Given the description of an element on the screen output the (x, y) to click on. 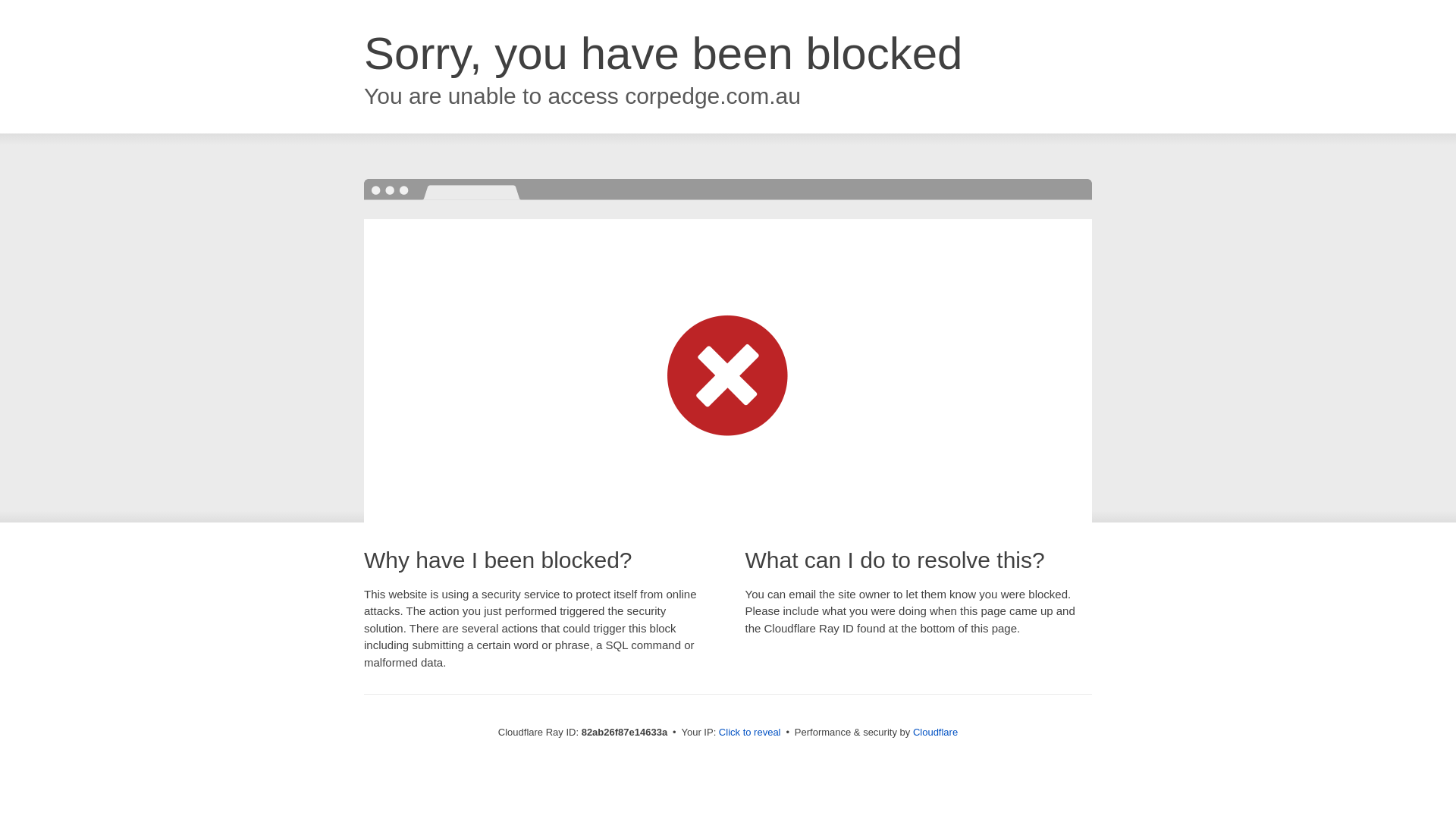
Cloudflare Element type: text (935, 731)
Click to reveal Element type: text (749, 732)
